Given the description of an element on the screen output the (x, y) to click on. 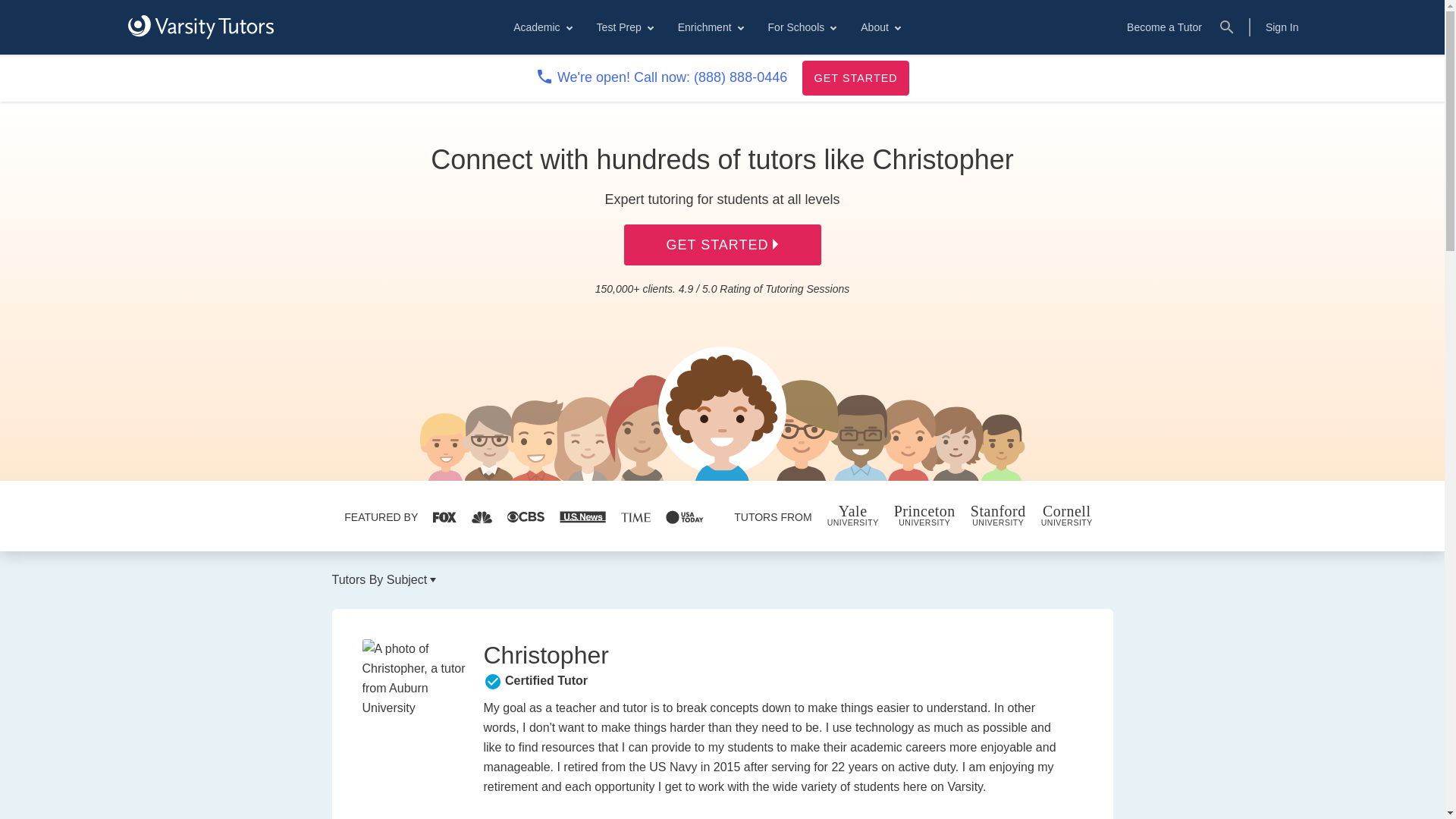
Academic (541, 27)
Varsity Tutors (200, 26)
Varsity Tutors (200, 27)
GET STARTED (855, 77)
